Given the description of an element on the screen output the (x, y) to click on. 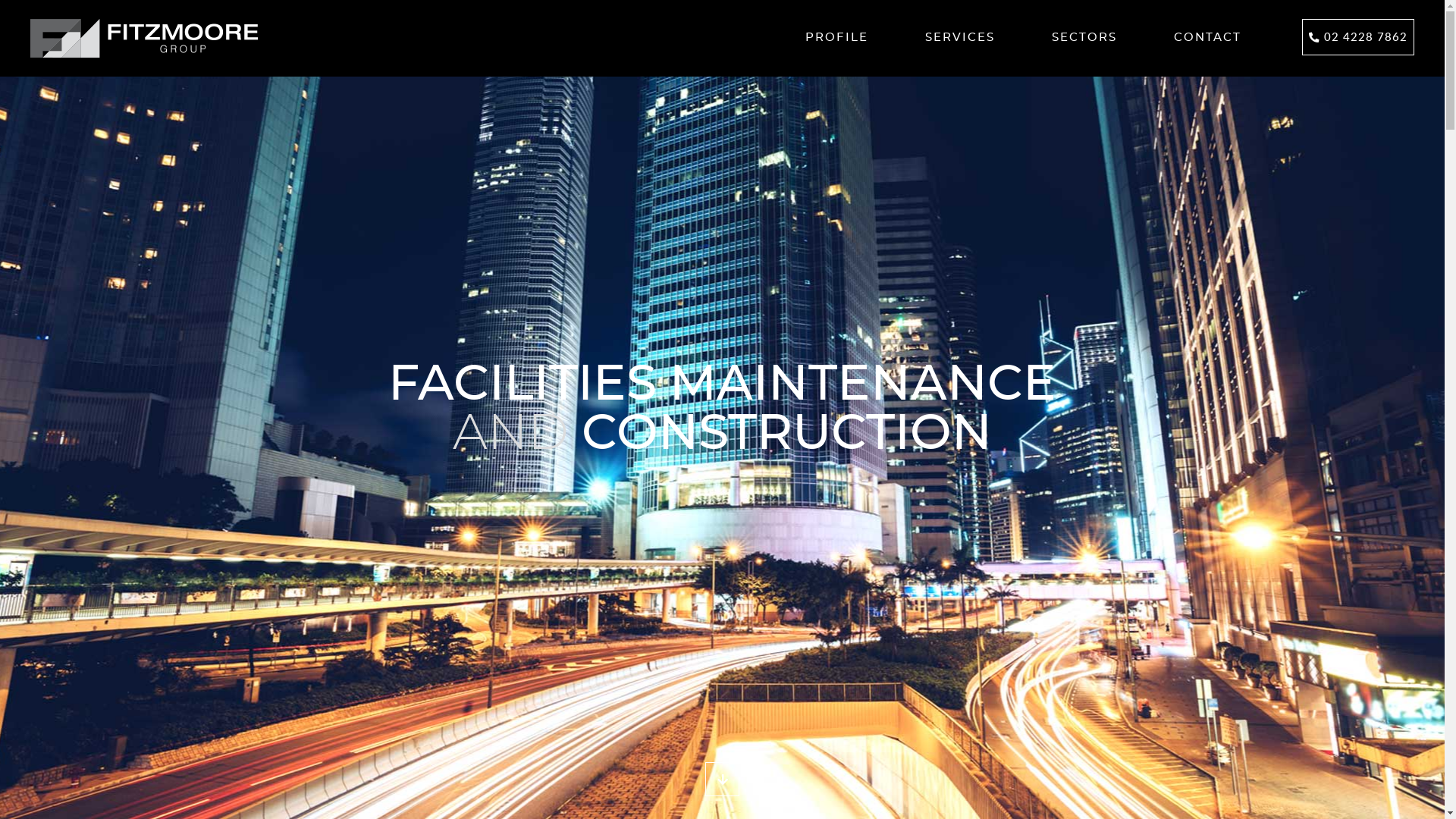
SECTORS Element type: text (1084, 37)
02 4228 7862 Element type: text (1358, 36)
CONTACT Element type: text (1207, 37)
PROFILE Element type: text (836, 37)
SERVICES Element type: text (959, 37)
